Given the description of an element on the screen output the (x, y) to click on. 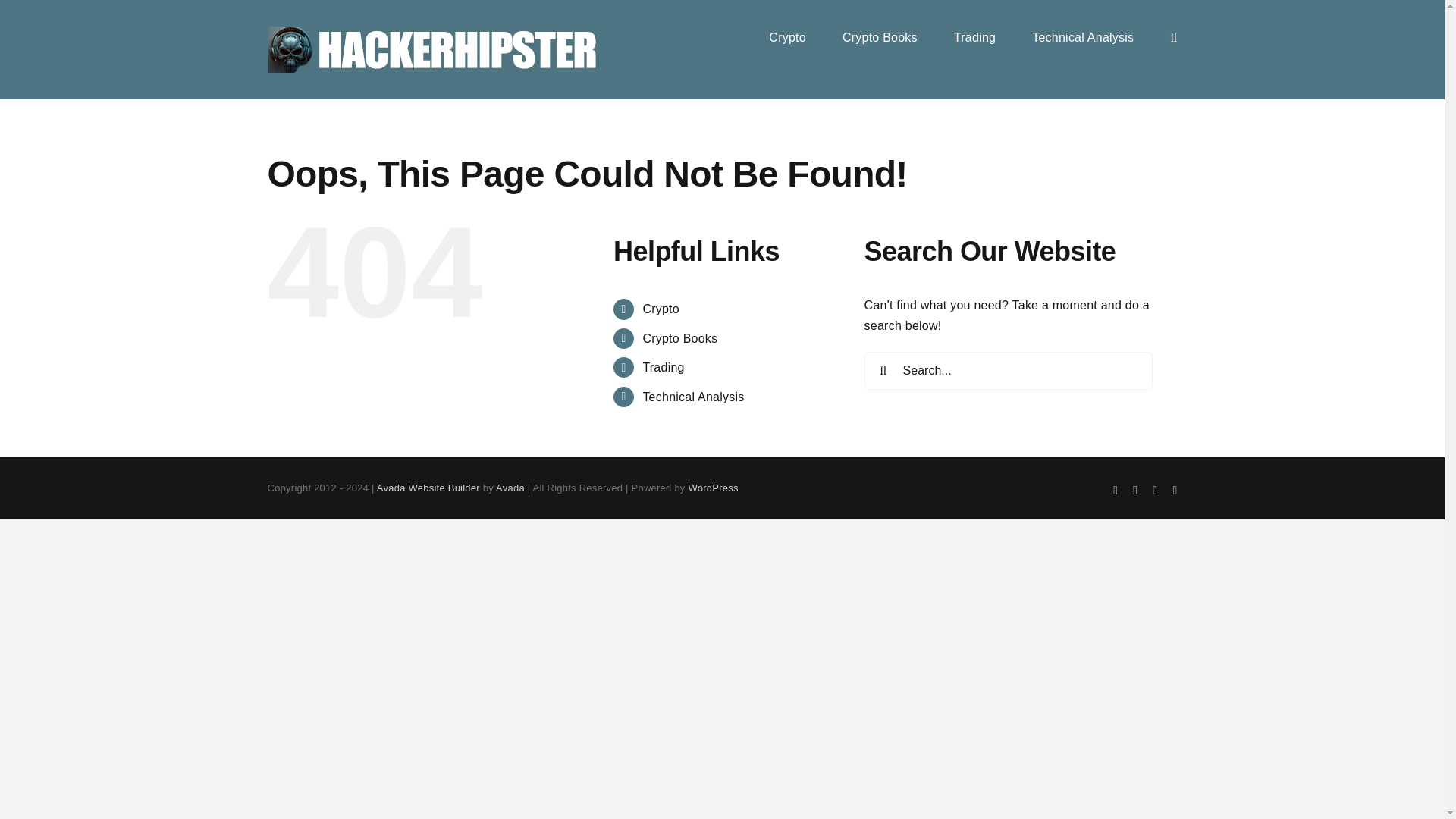
Avada Website Builder (428, 487)
Technical Analysis (693, 395)
Crypto (660, 308)
Crypto Books (679, 338)
WordPress (712, 487)
Trading (663, 367)
Crypto Books (880, 36)
Technical Analysis (1083, 36)
Avada (510, 487)
